Given the description of an element on the screen output the (x, y) to click on. 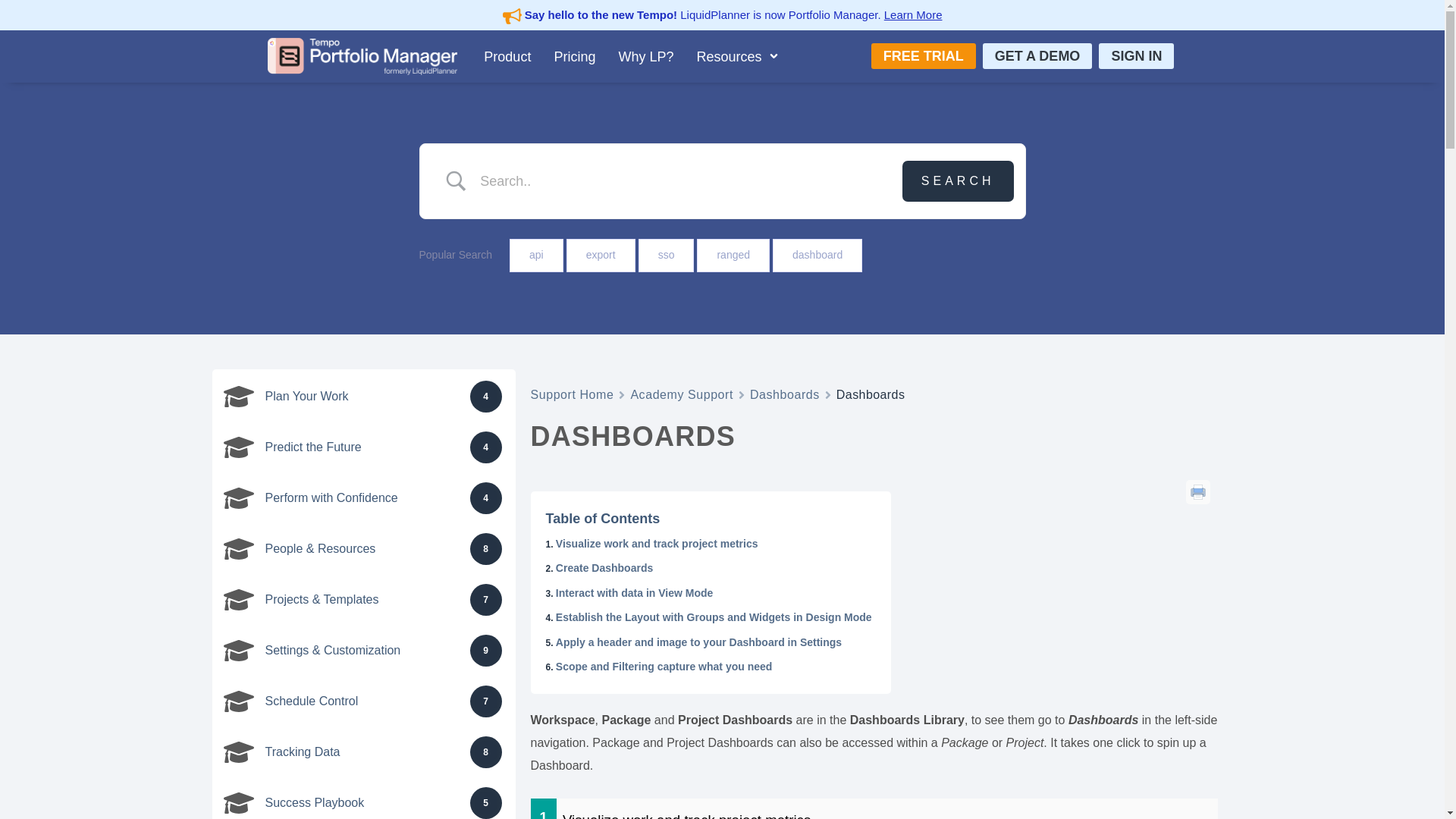
FREE TRIAL (922, 55)
Support Home (572, 394)
SIGN IN (1136, 55)
Search (957, 180)
Search (957, 180)
GET A DEMO (1037, 55)
Search (957, 180)
Dashboards (784, 394)
Resources (736, 56)
Pricing (574, 56)
Academy Support (681, 394)
Why LP? (645, 56)
Product (506, 56)
